Given the description of an element on the screen output the (x, y) to click on. 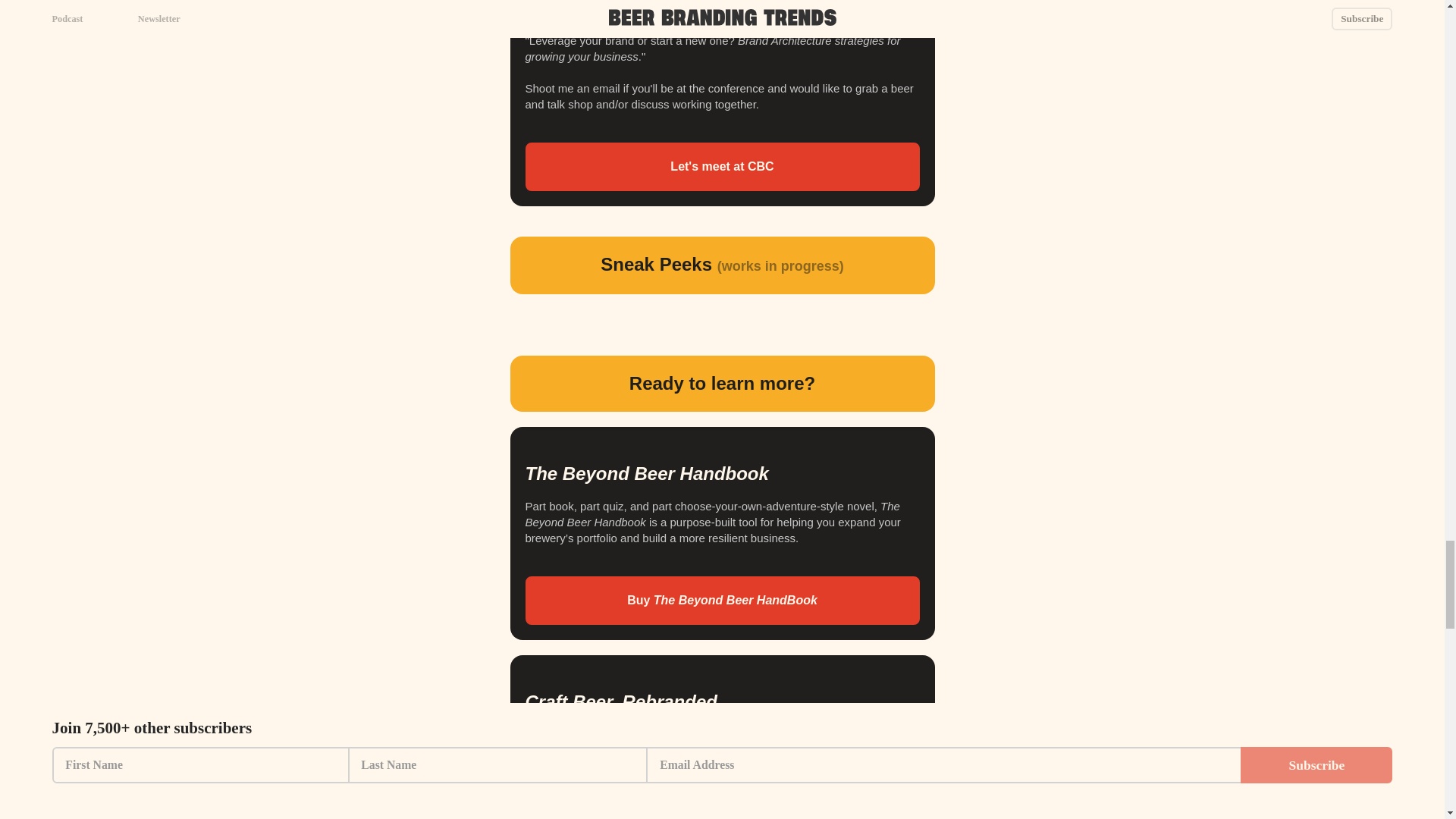
Let's meet at CBC (721, 166)
seminar (751, 24)
Buy The Beyond Beer HandBook (721, 600)
